Given the description of an element on the screen output the (x, y) to click on. 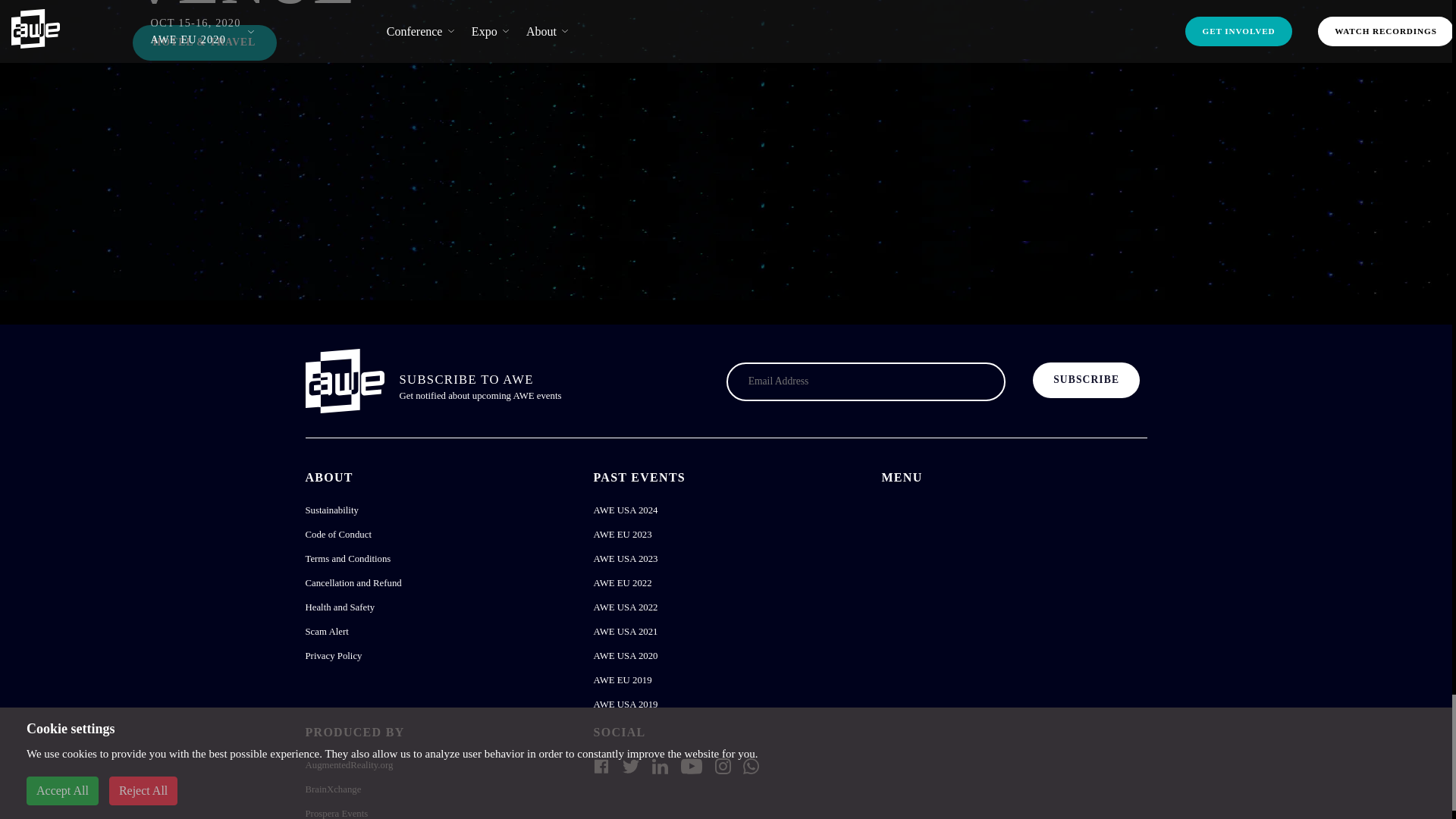
Subscribe (1086, 380)
